Given the description of an element on the screen output the (x, y) to click on. 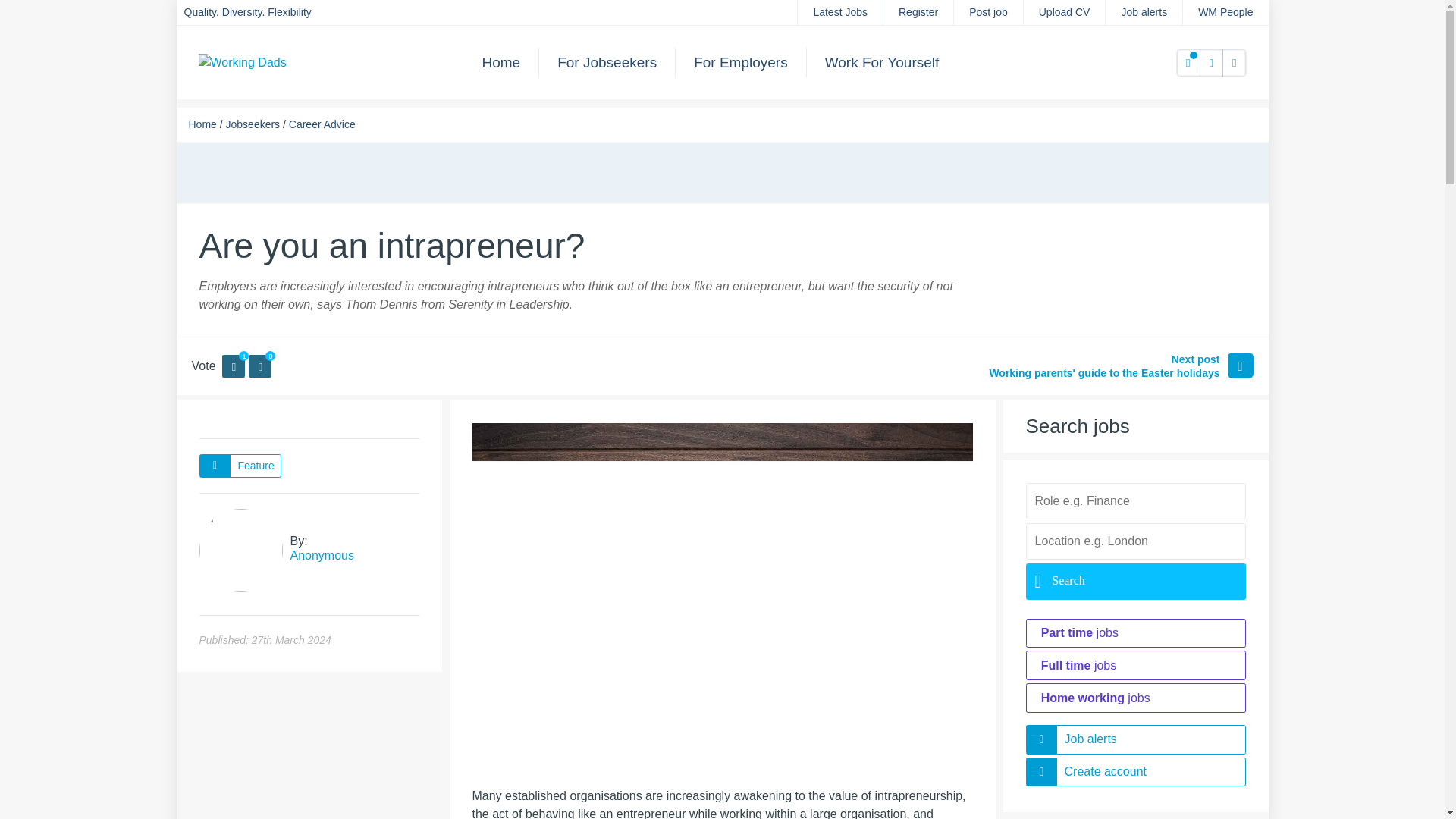
Home (501, 61)
Working Dads (242, 61)
Job alerts (1143, 12)
Post job (988, 12)
Register (918, 12)
For Jobseekers (606, 61)
Upload CV (1064, 12)
WM People (1225, 12)
Latest Jobs (839, 12)
For Employers (740, 61)
